Given the description of an element on the screen output the (x, y) to click on. 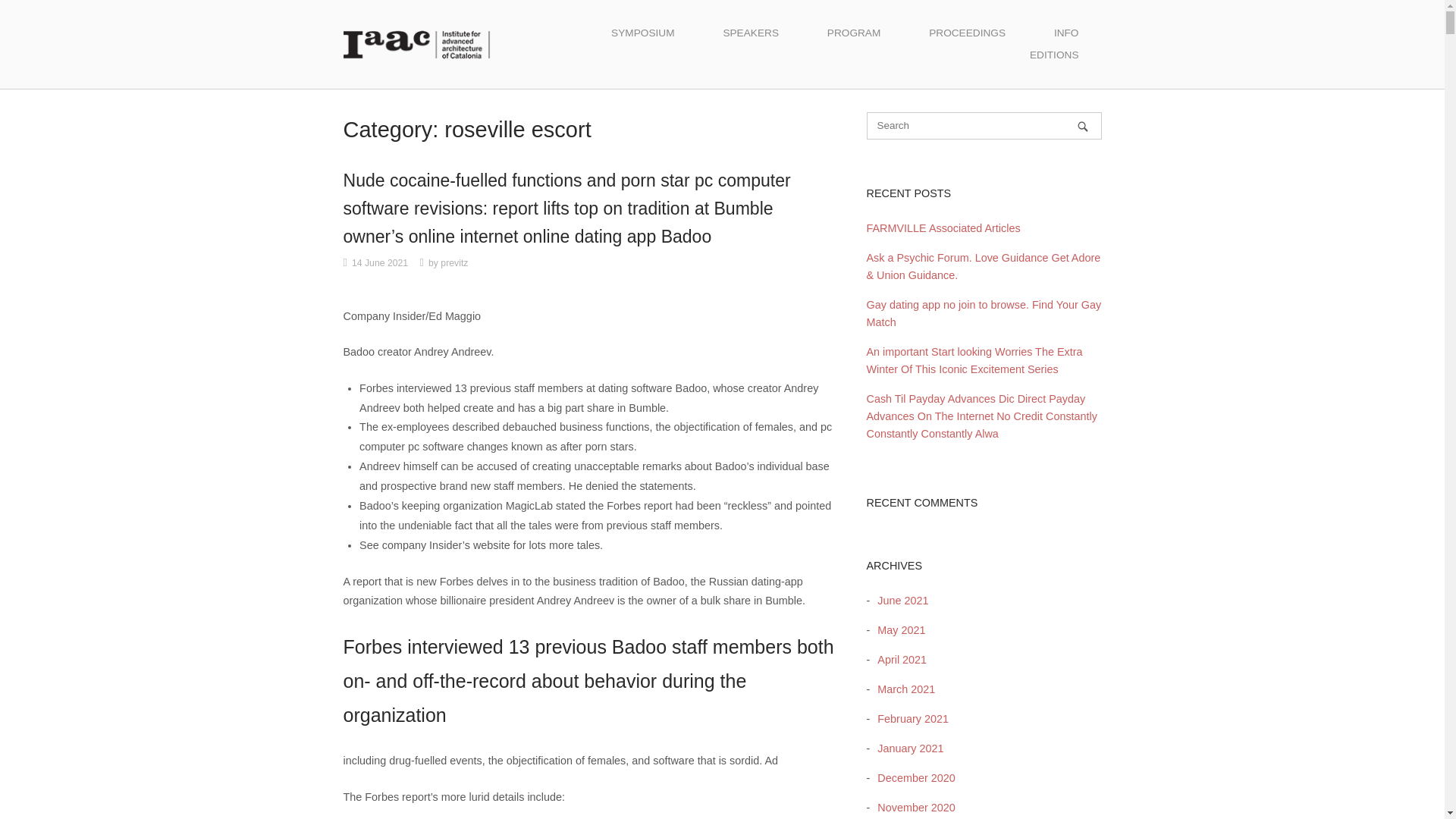
PROCEEDINGS (966, 33)
March 2021 (901, 689)
SYMPOSIUM (642, 33)
December 2020 (912, 777)
May 2021 (896, 630)
PROGRAM (854, 33)
EDITIONS (1054, 54)
INFO (1066, 33)
14 June 2021 (379, 262)
January 2021 (906, 748)
Gay dating app no join to browse. Find Your Gay Match (983, 313)
April 2021 (897, 659)
FARMVILLE Associated Articles (943, 227)
